Given the description of an element on the screen output the (x, y) to click on. 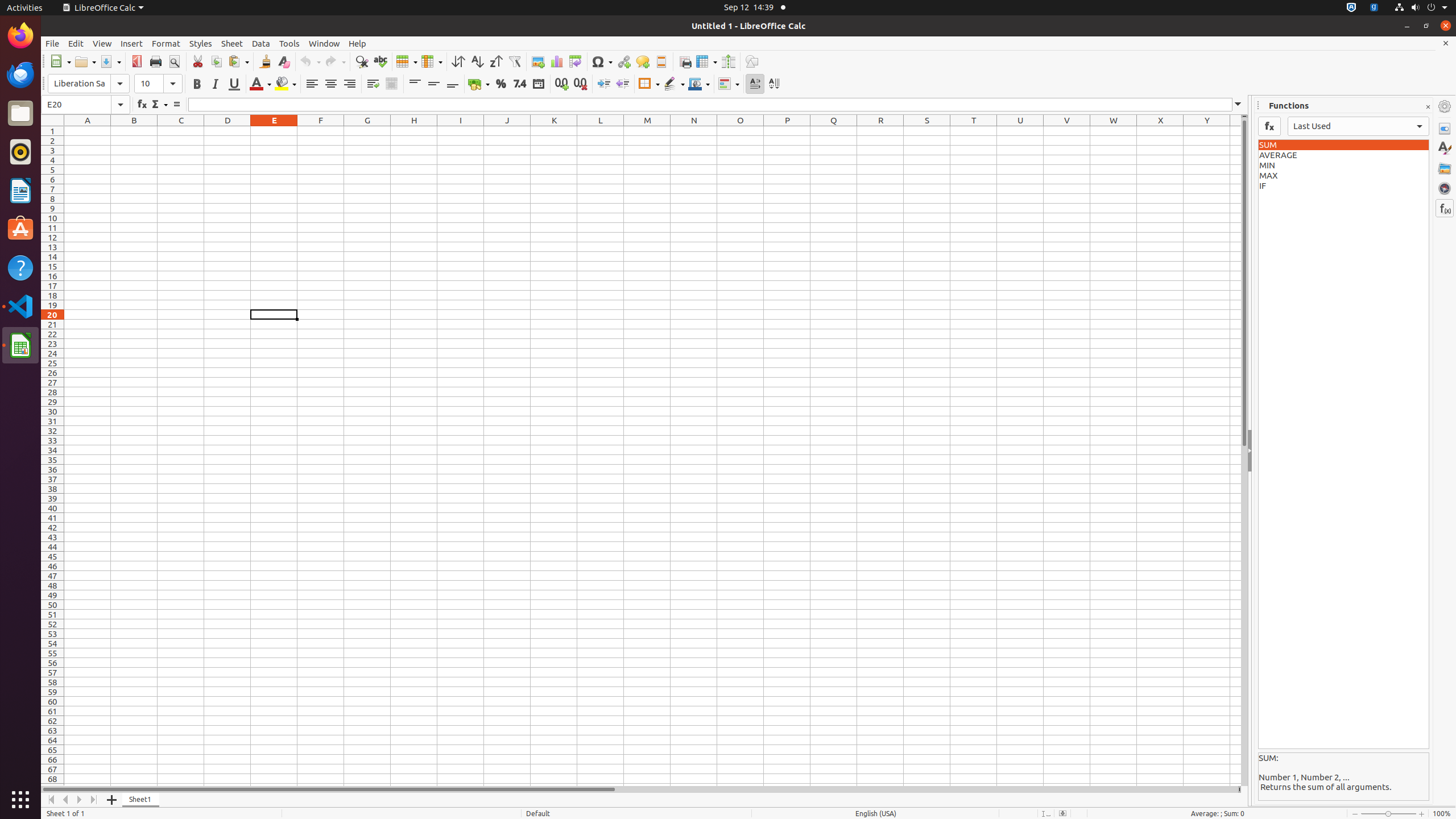
Horizontal scroll bar Element type: scroll-bar (639, 789)
Thunderbird Mail Element type: push-button (20, 74)
B1 Element type: table-cell (133, 130)
Styles Element type: radio-button (1444, 148)
Draw Functions Element type: toggle-button (751, 61)
